Given the description of an element on the screen output the (x, y) to click on. 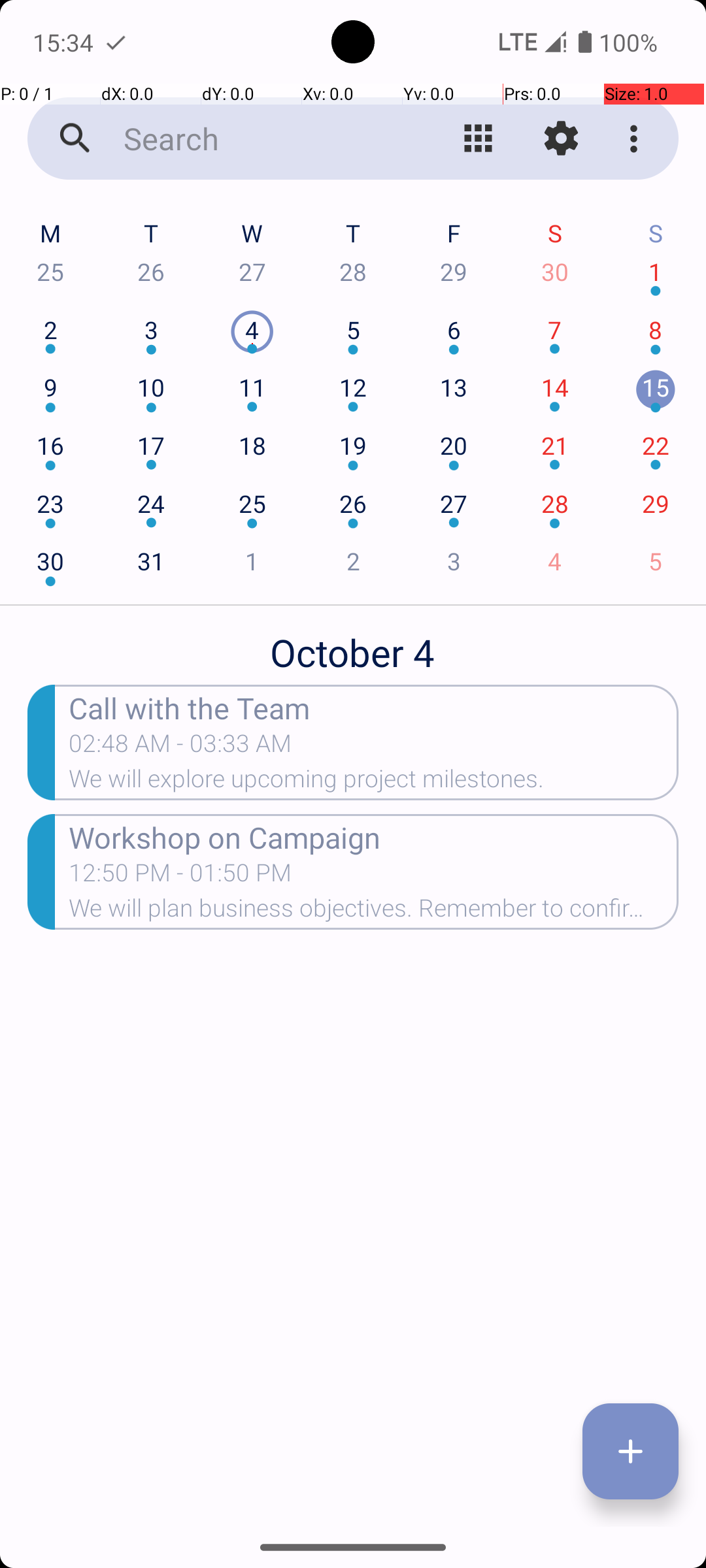
October 4 Element type: android.widget.TextView (352, 644)
02:48 AM - 03:33 AM Element type: android.widget.TextView (179, 747)
We will explore upcoming project milestones. Element type: android.widget.TextView (373, 782)
12:50 PM - 01:50 PM Element type: android.widget.TextView (179, 876)
We will plan business objectives. Remember to confirm attendance. Element type: android.widget.TextView (373, 911)
